Given the description of an element on the screen output the (x, y) to click on. 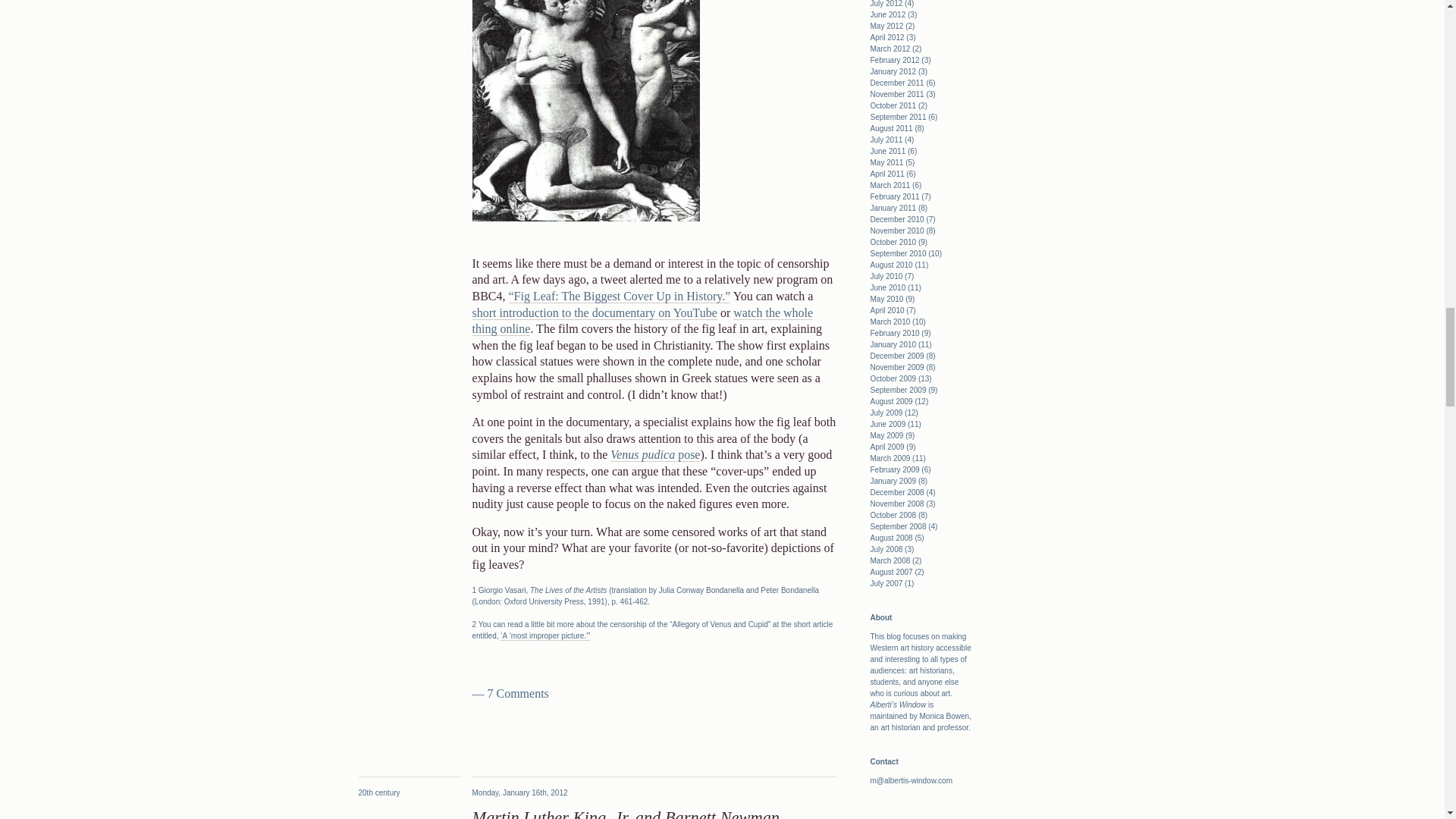
Venus pudica pose (655, 454)
20th century (378, 792)
short introduction to the documentary on YouTube (593, 313)
